Given the description of an element on the screen output the (x, y) to click on. 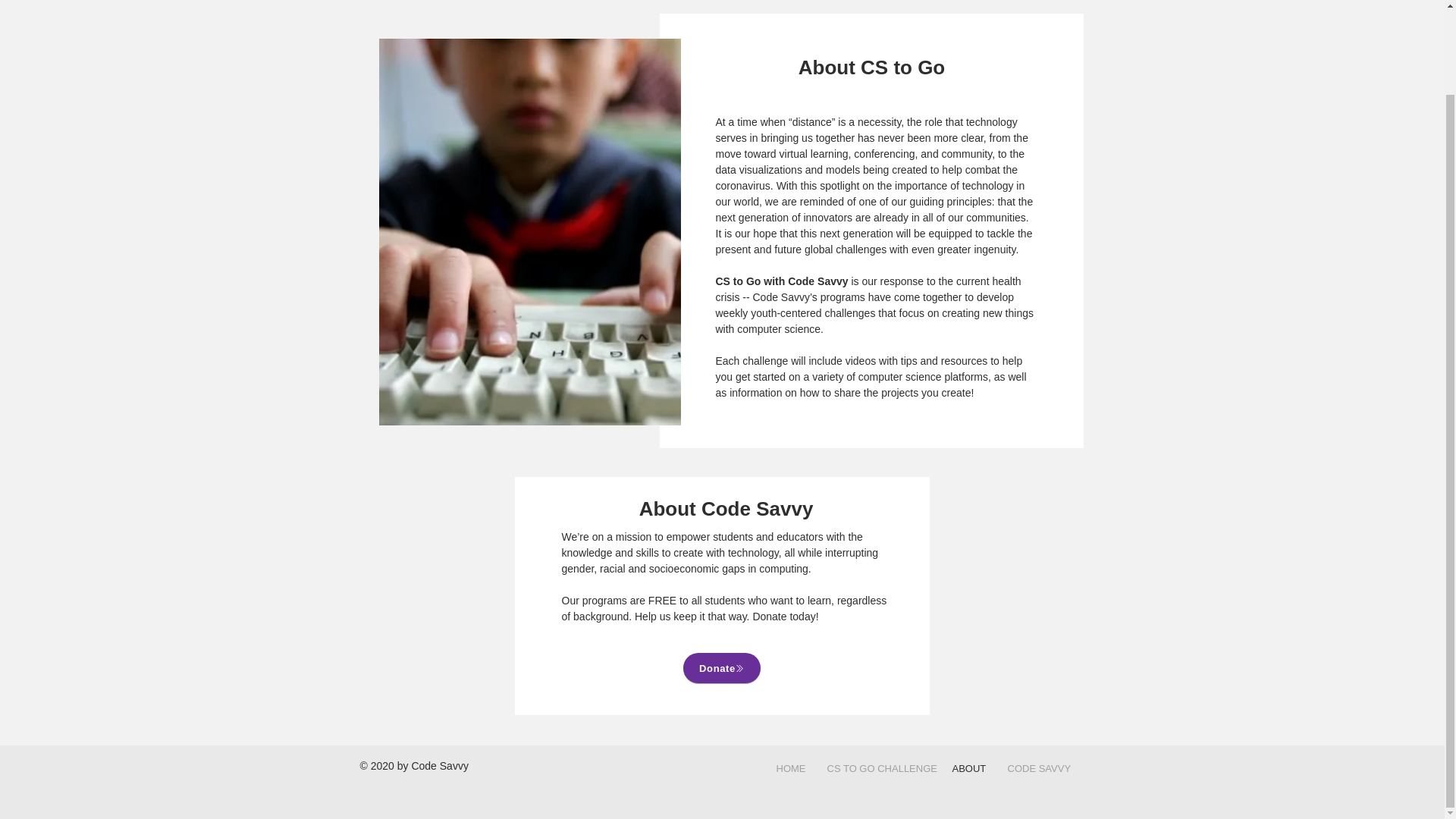
CODE SAVVY (1037, 768)
HOME (789, 768)
ABOUT (967, 768)
Donate (721, 667)
CS TO GO CHALLENGE (877, 768)
